Given the description of an element on the screen output the (x, y) to click on. 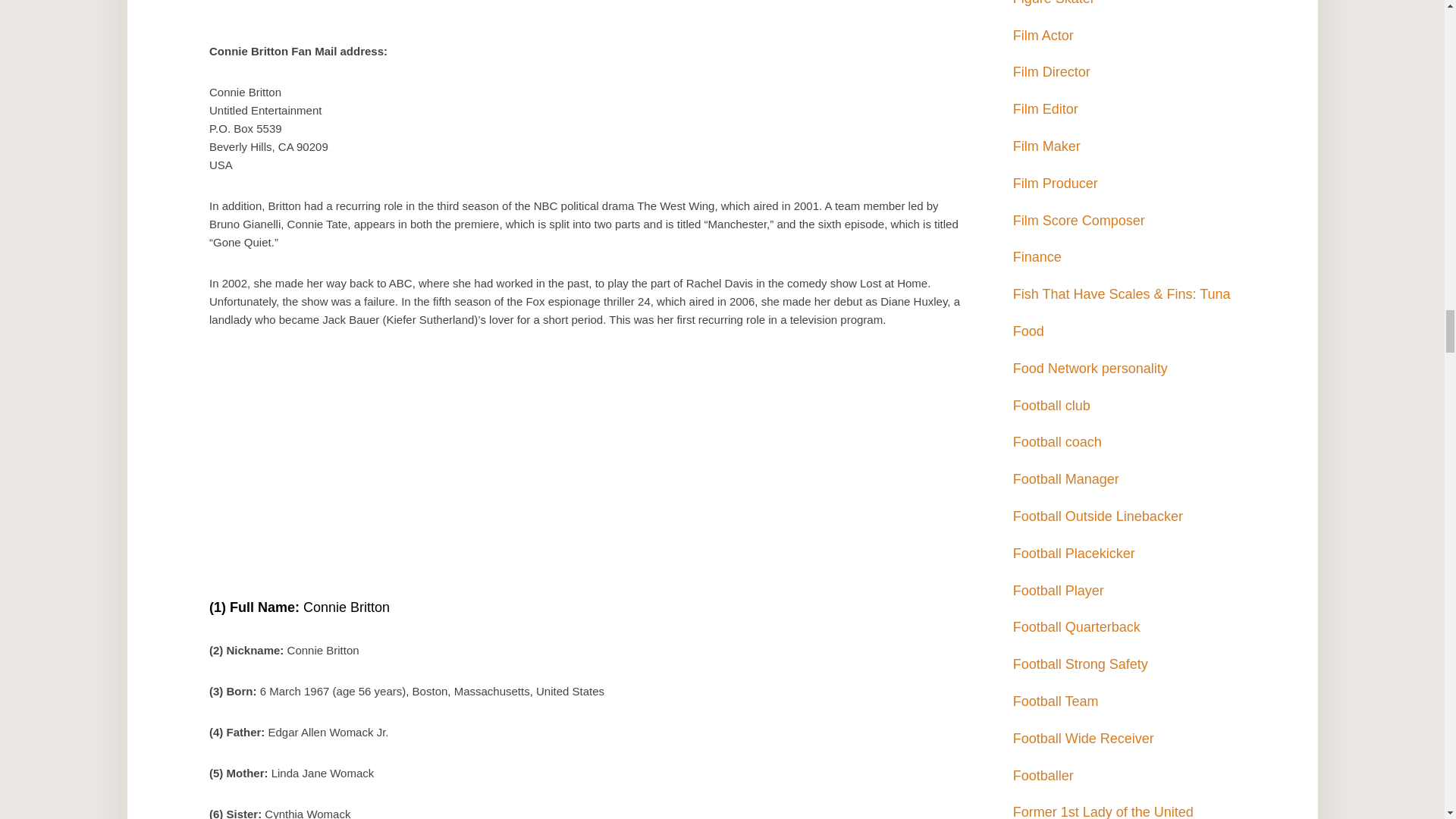
YouTube video player (587, 471)
